Given the description of an element on the screen output the (x, y) to click on. 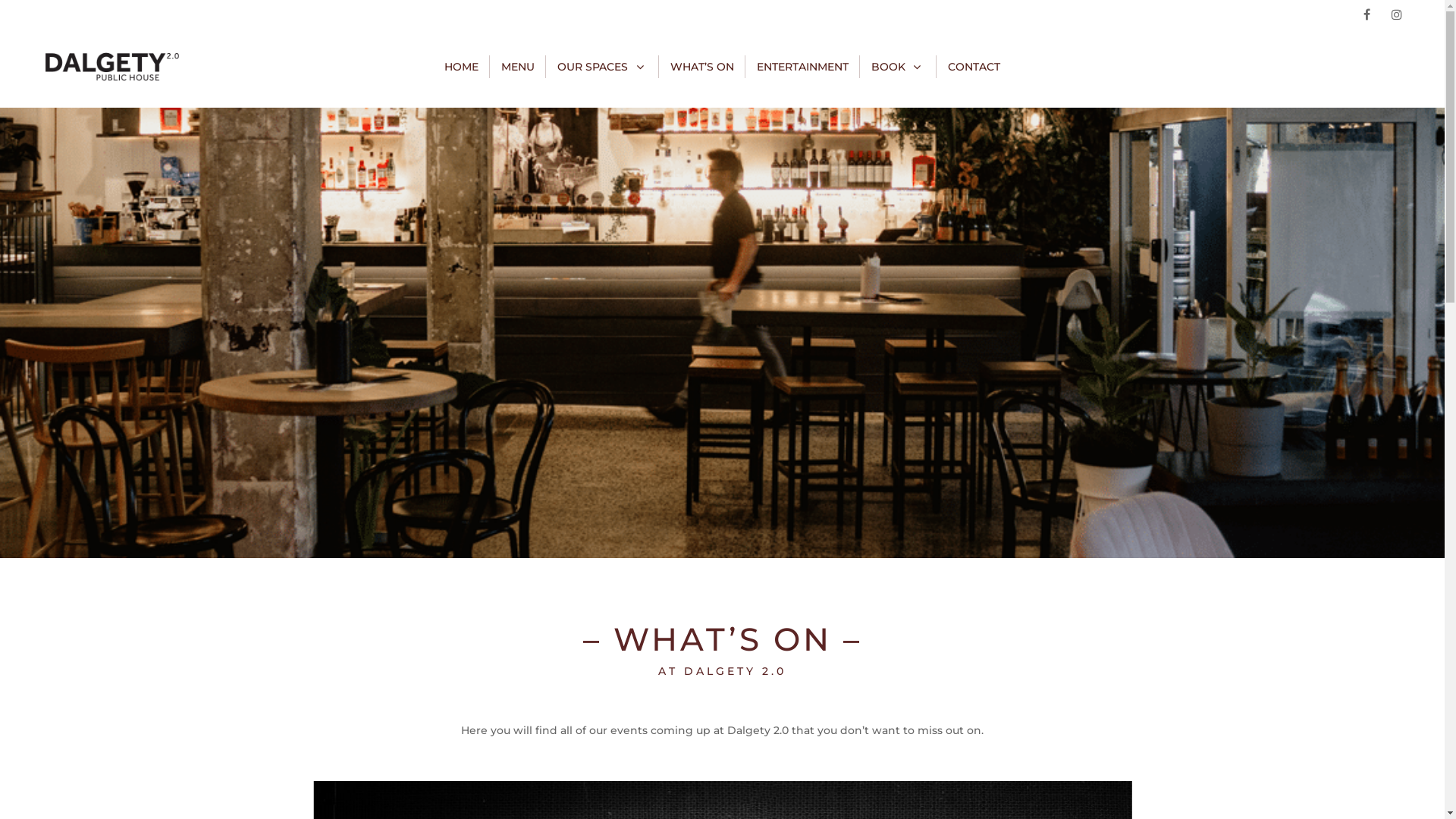
MENU Element type: text (517, 66)
ENTERTAINMENT Element type: text (802, 66)
CONTACT Element type: text (973, 66)
HOME Element type: text (461, 66)
BOOK Element type: text (898, 66)
OUR SPACES Element type: text (602, 66)
